Given the description of an element on the screen output the (x, y) to click on. 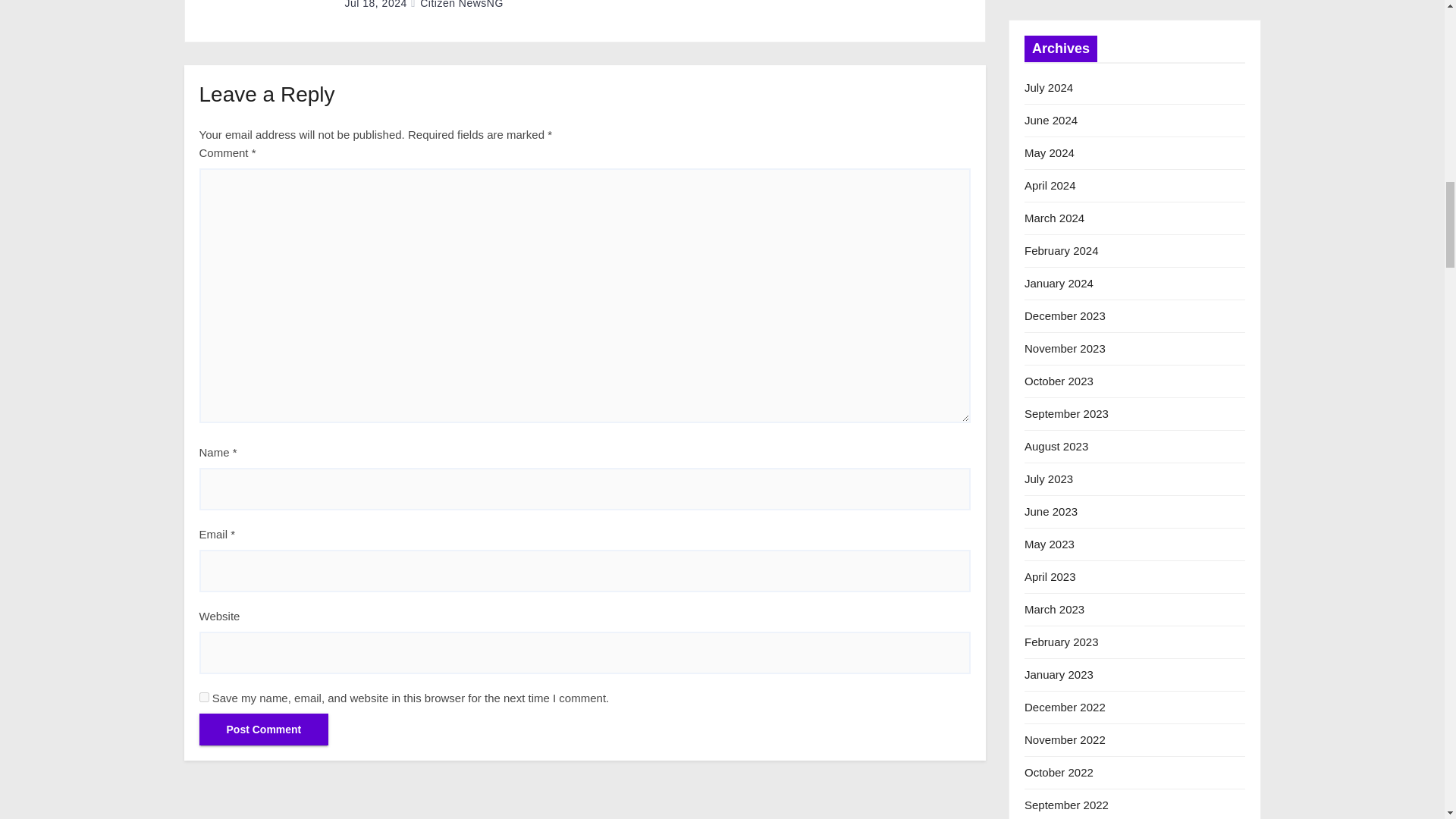
yes (203, 696)
Post Comment (263, 728)
